Given the description of an element on the screen output the (x, y) to click on. 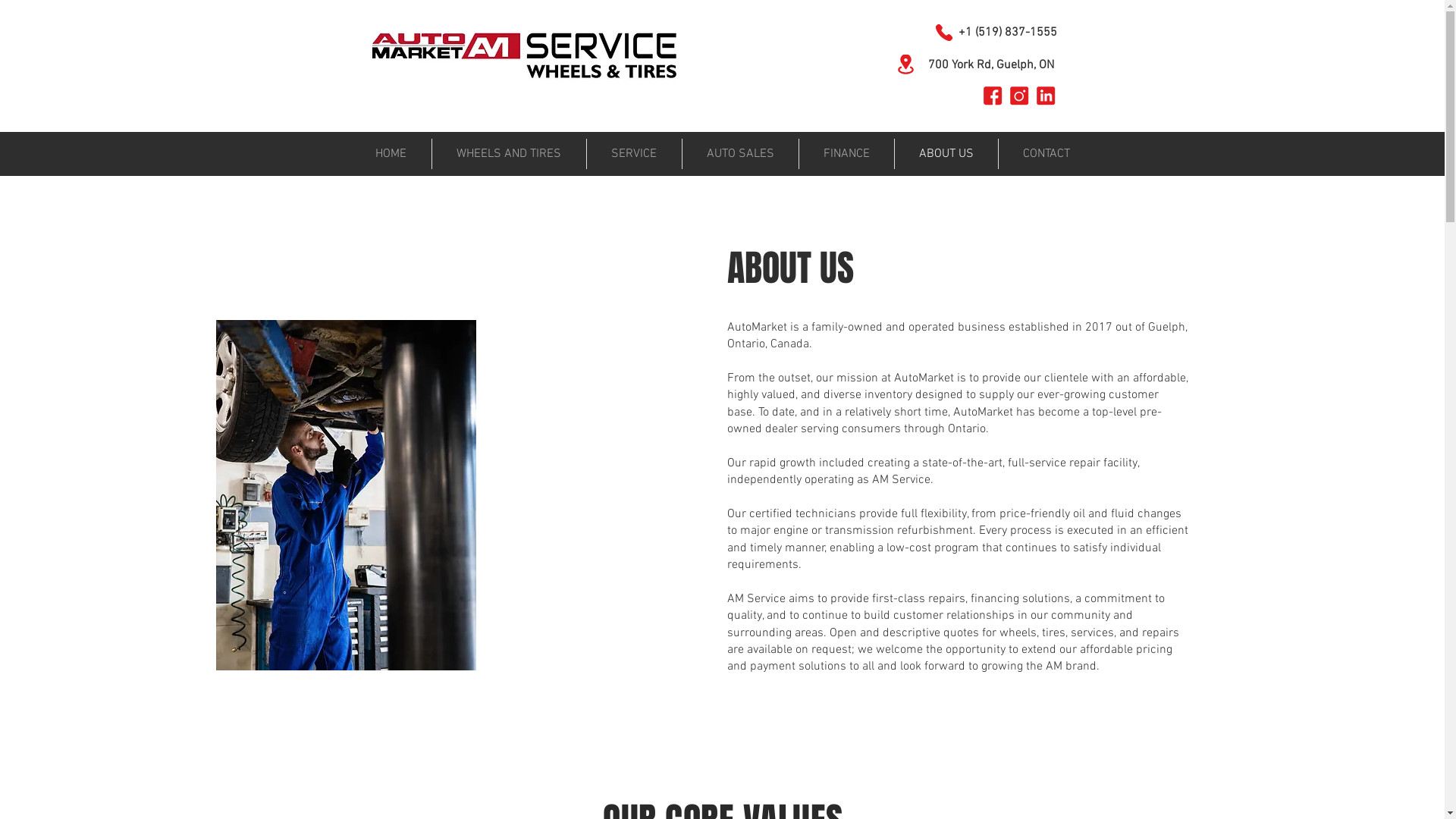
WHEELS AND TIRES Element type: text (509, 153)
FINANCE Element type: text (846, 153)
+1 (519) 837-1555 Element type: text (1007, 32)
CONTACT Element type: text (1045, 153)
700 York Rd, Guelph, ON Element type: text (991, 64)
AUTO SALES Element type: text (740, 153)
ABOUT US Element type: text (945, 153)
HOME Element type: text (390, 153)
SERVICE Element type: text (633, 153)
